Given the description of an element on the screen output the (x, y) to click on. 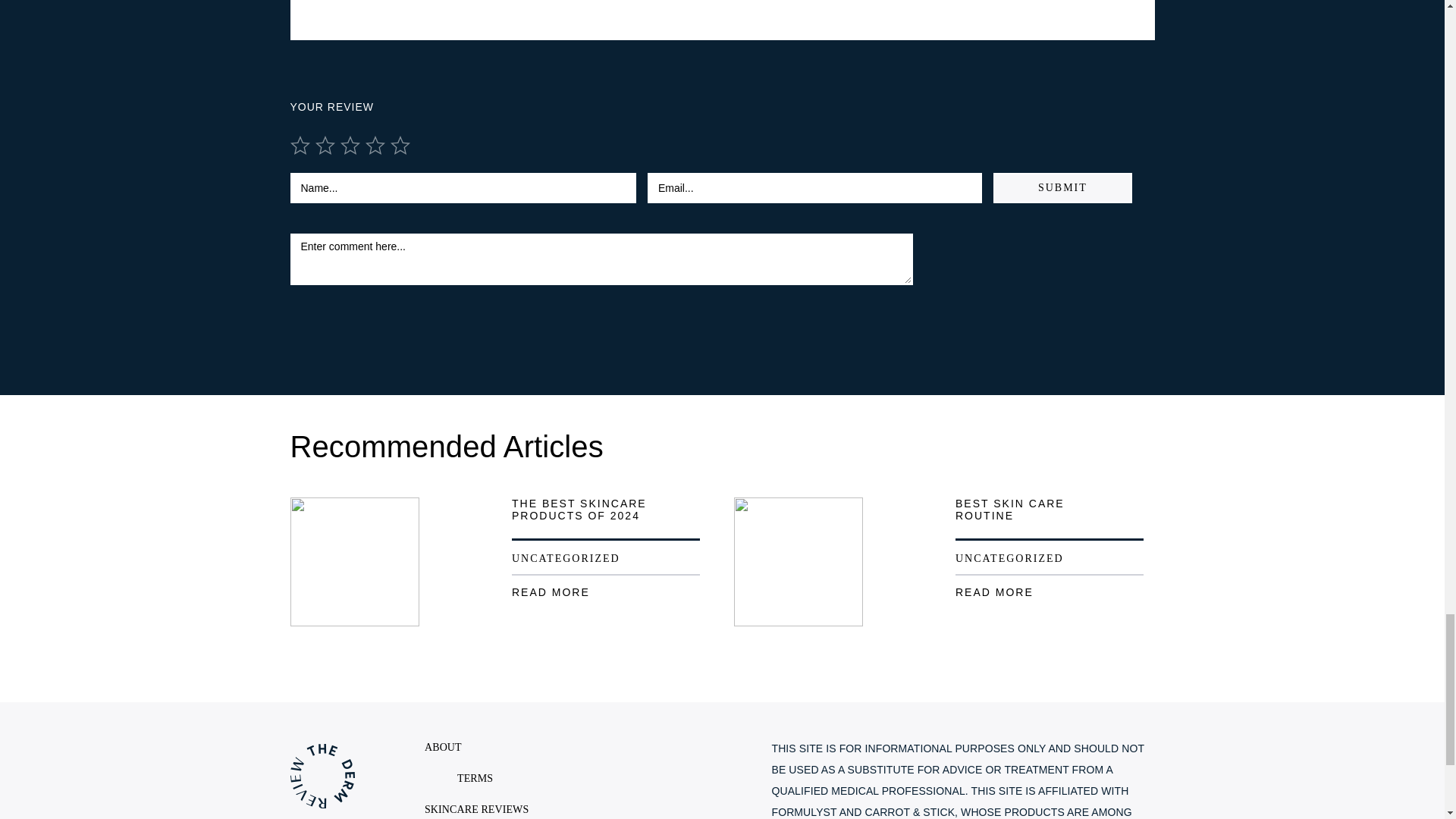
SUBMIT  (1061, 187)
No comments yet (721, 20)
